Given the description of an element on the screen output the (x, y) to click on. 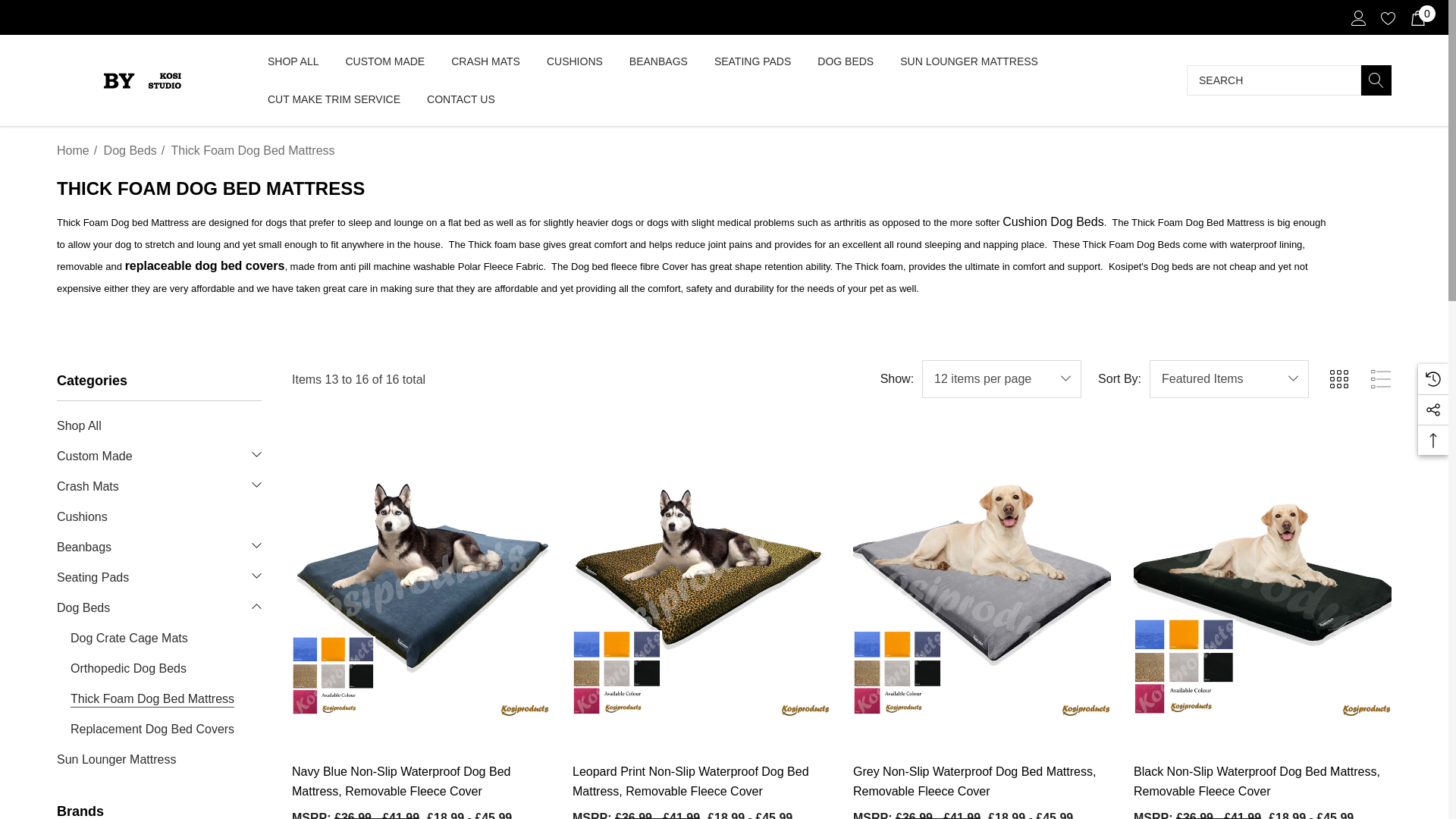
WISH LISTS WISH LISTS (1388, 17)
CRASH MATS (485, 62)
SHOP ALL (292, 61)
YOUR CART YOUR CART (1417, 17)
KosiProducts (141, 80)
ACCOUNT ACCOUNT (1359, 17)
Kosipet Cushion Dog Beds (1053, 221)
CUSTOM MADE (385, 62)
